Given the description of an element on the screen output the (x, y) to click on. 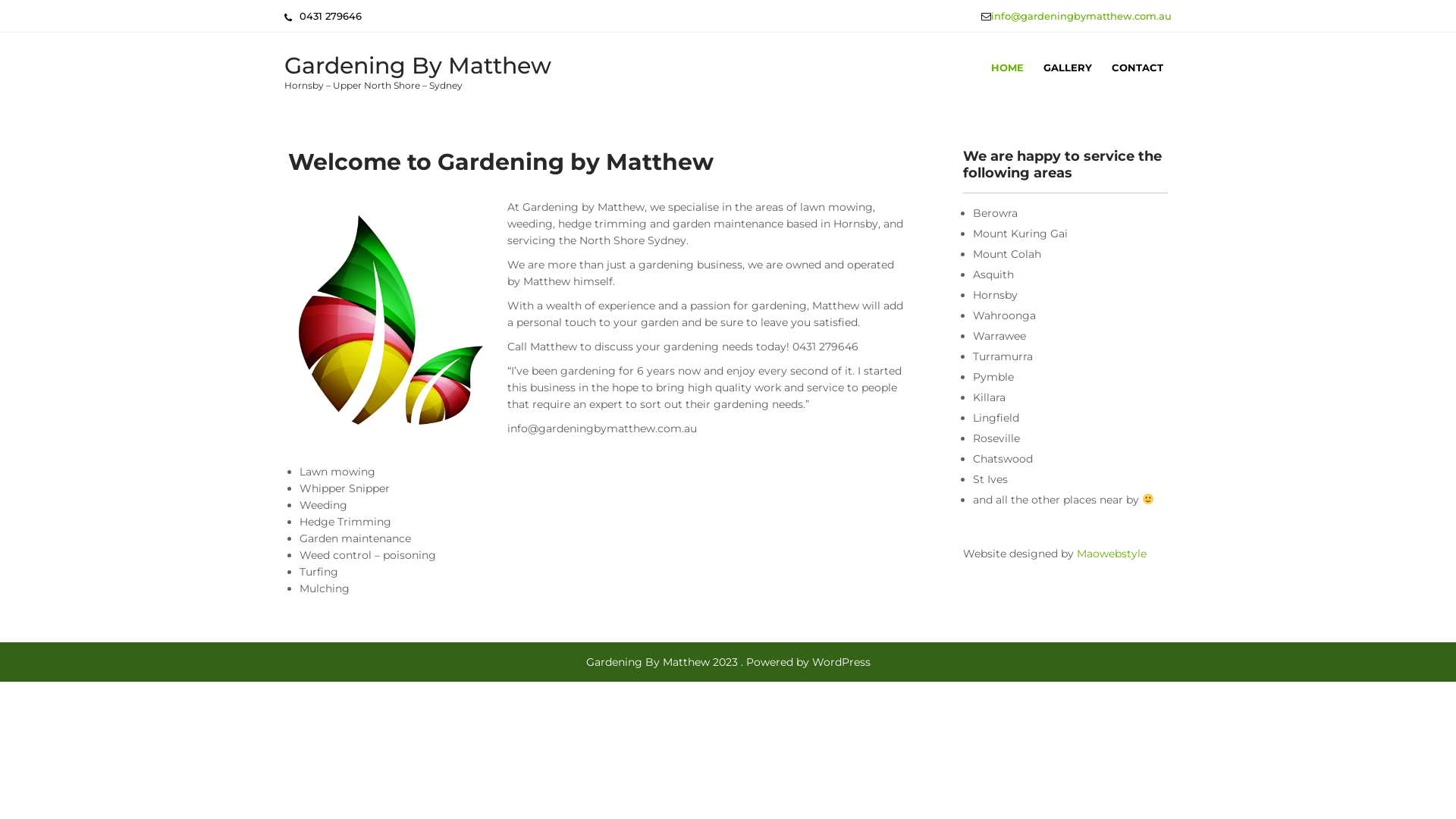
Gardening By Matthew Element type: text (417, 65)
Maowebstyle Element type: text (1111, 553)
Gardening By Matthew 2023 . Powered by WordPress Element type: text (727, 661)
HOME Element type: text (1007, 67)
CONTACT Element type: text (1137, 67)
info@gardeningbymatthew.com.au Element type: text (1081, 15)
GALLERY Element type: text (1067, 67)
